Given the description of an element on the screen output the (x, y) to click on. 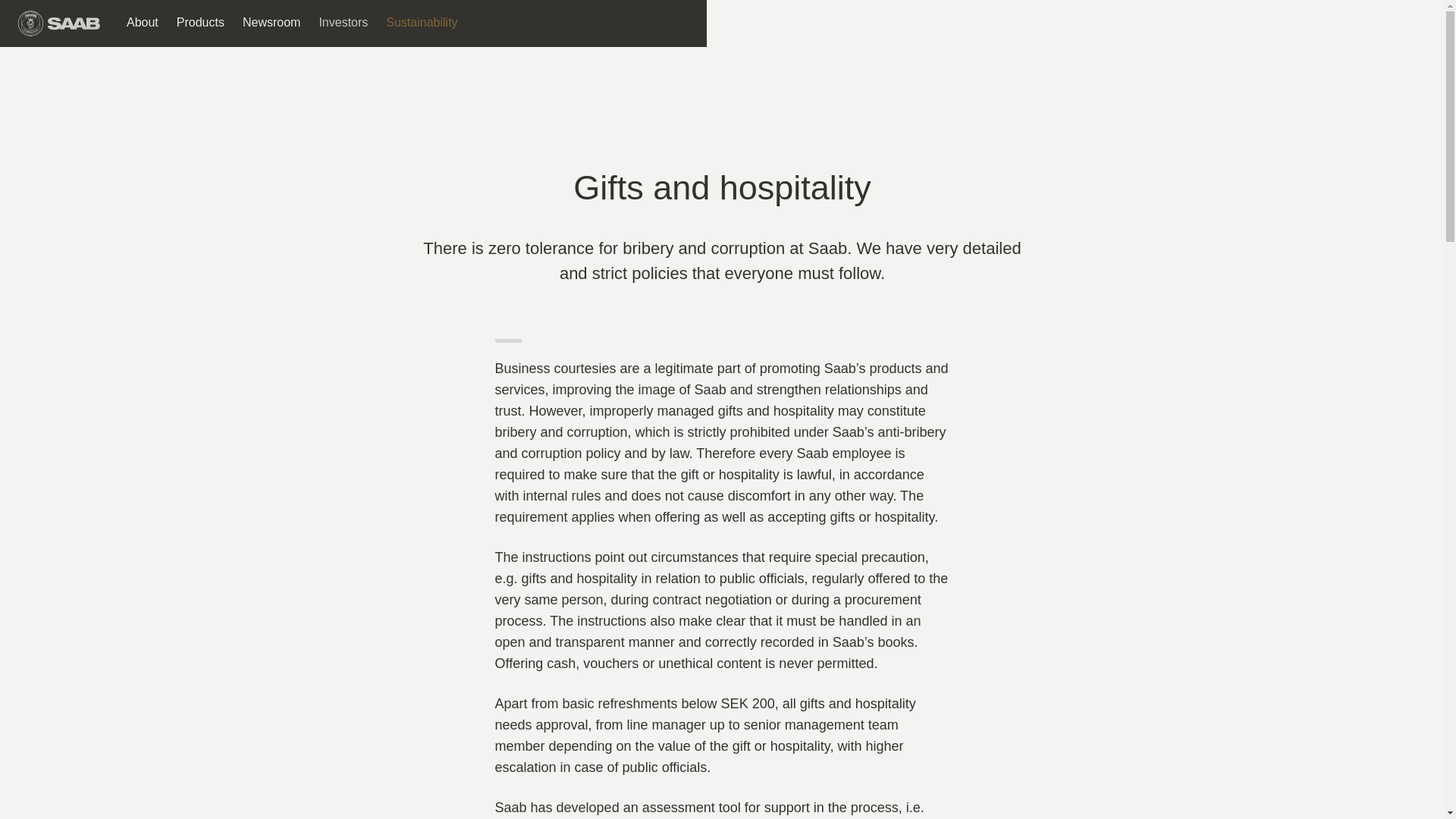
About (142, 23)
Products (199, 23)
Sustainability (421, 22)
Go to homepage (58, 23)
Investors (342, 23)
Newsroom (270, 23)
